Given the description of an element on the screen output the (x, y) to click on. 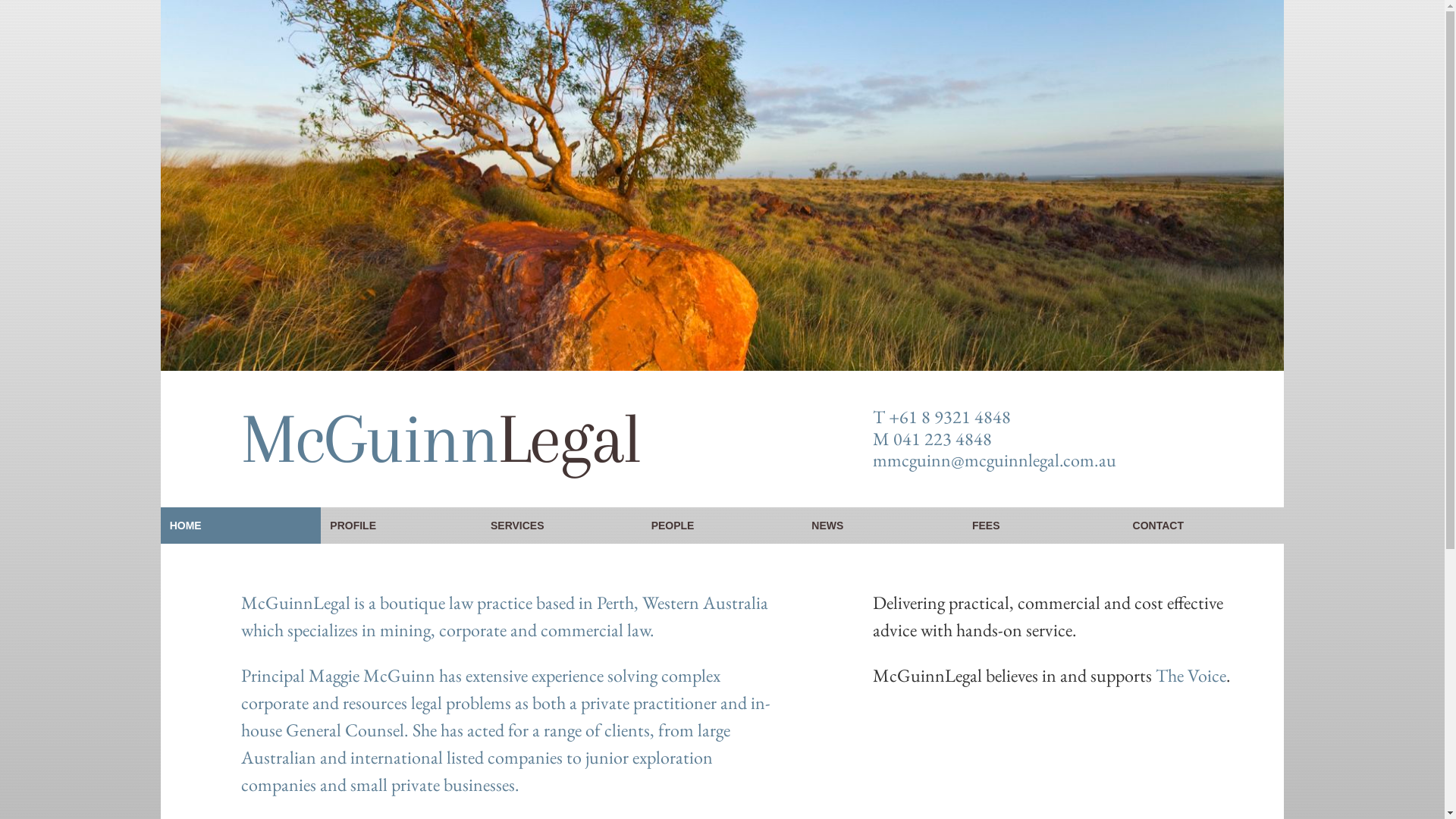
M 041 223 4848 Element type: text (931, 438)
T +61 8 9321 4848 Element type: text (941, 416)
PROFILE Element type: text (400, 525)
HOME Element type: text (240, 525)
CONTACT Element type: text (1203, 525)
NEWS Element type: text (882, 525)
The Voice Element type: text (1190, 675)
SERVICES Element type: text (561, 525)
PEOPLE Element type: text (722, 525)
FEES Element type: text (1043, 525)
McGuinnLegal Element type: text (440, 438)
mmcguinn@mcguinnlegal.com.au Element type: text (994, 459)
